Given the description of an element on the screen output the (x, y) to click on. 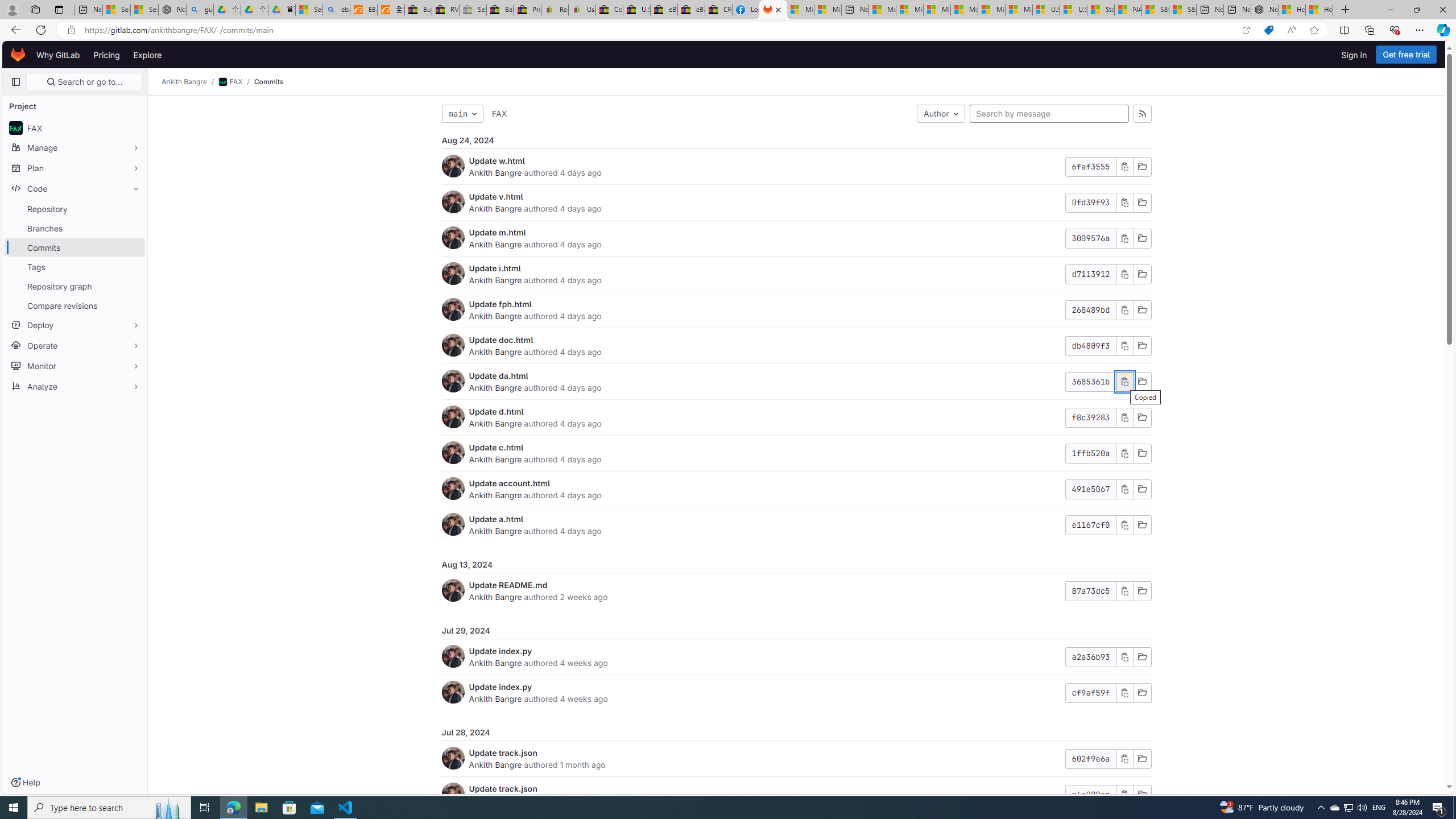
Search by message (1048, 113)
Update doc.htmlAnkith Bangre authored 4 days agodb4809f3 (796, 345)
Ankith Bangre's avatar (452, 793)
Jul 29, 2024 (796, 630)
Get free trial (1406, 54)
Update m.html (496, 232)
Pricing (106, 54)
avatar FAX (74, 127)
Update track.jsonAnkith Bangre authored 1 month agoc6a008ac (796, 794)
Update i.html (494, 267)
Pricing (106, 54)
